Given the description of an element on the screen output the (x, y) to click on. 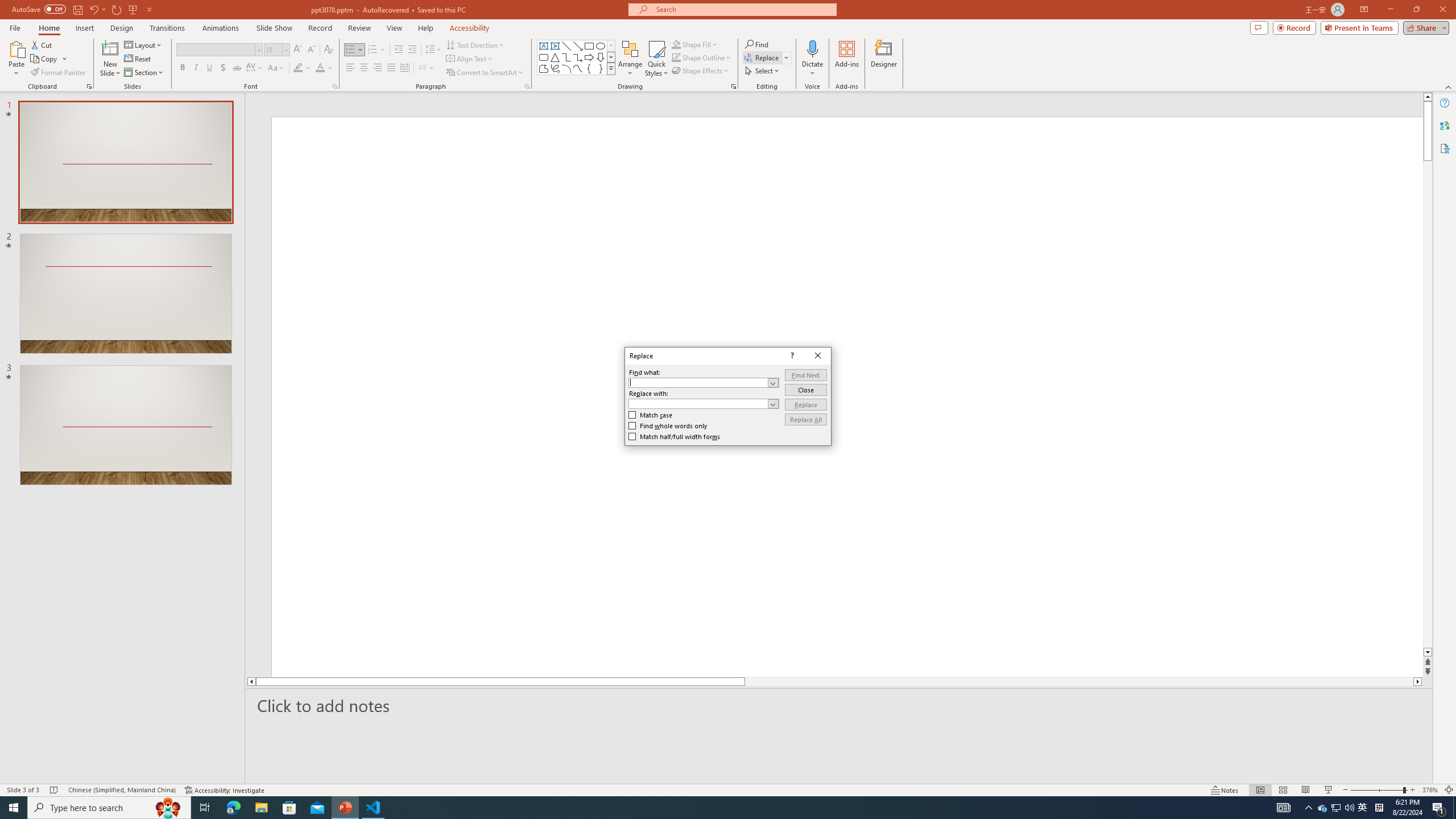
Find Next (805, 374)
